Given the description of an element on the screen output the (x, y) to click on. 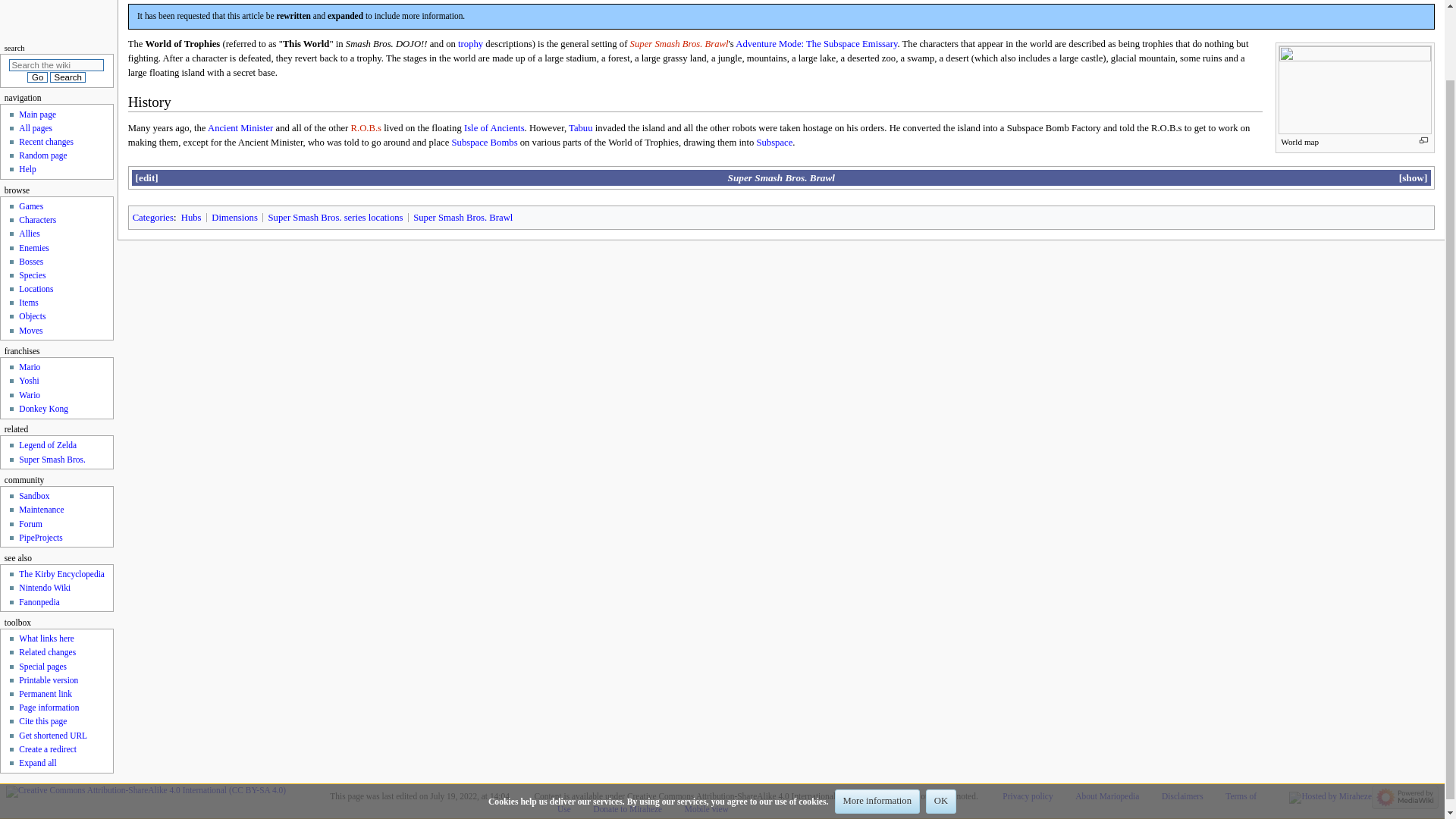
edit (146, 177)
show (1411, 177)
Isle of Ancients (494, 127)
Adventure Mode: The Subspace Emissary (815, 43)
R.O.B.s (365, 127)
Go (36, 77)
Go (36, 77)
Search (67, 77)
trophy (470, 43)
Subspace Bomb (484, 142)
Tabuu (580, 127)
Ancient Minister (240, 127)
Super Smash Bros. Brawl (781, 177)
Super Smash Bros. Brawl (679, 43)
